Given the description of an element on the screen output the (x, y) to click on. 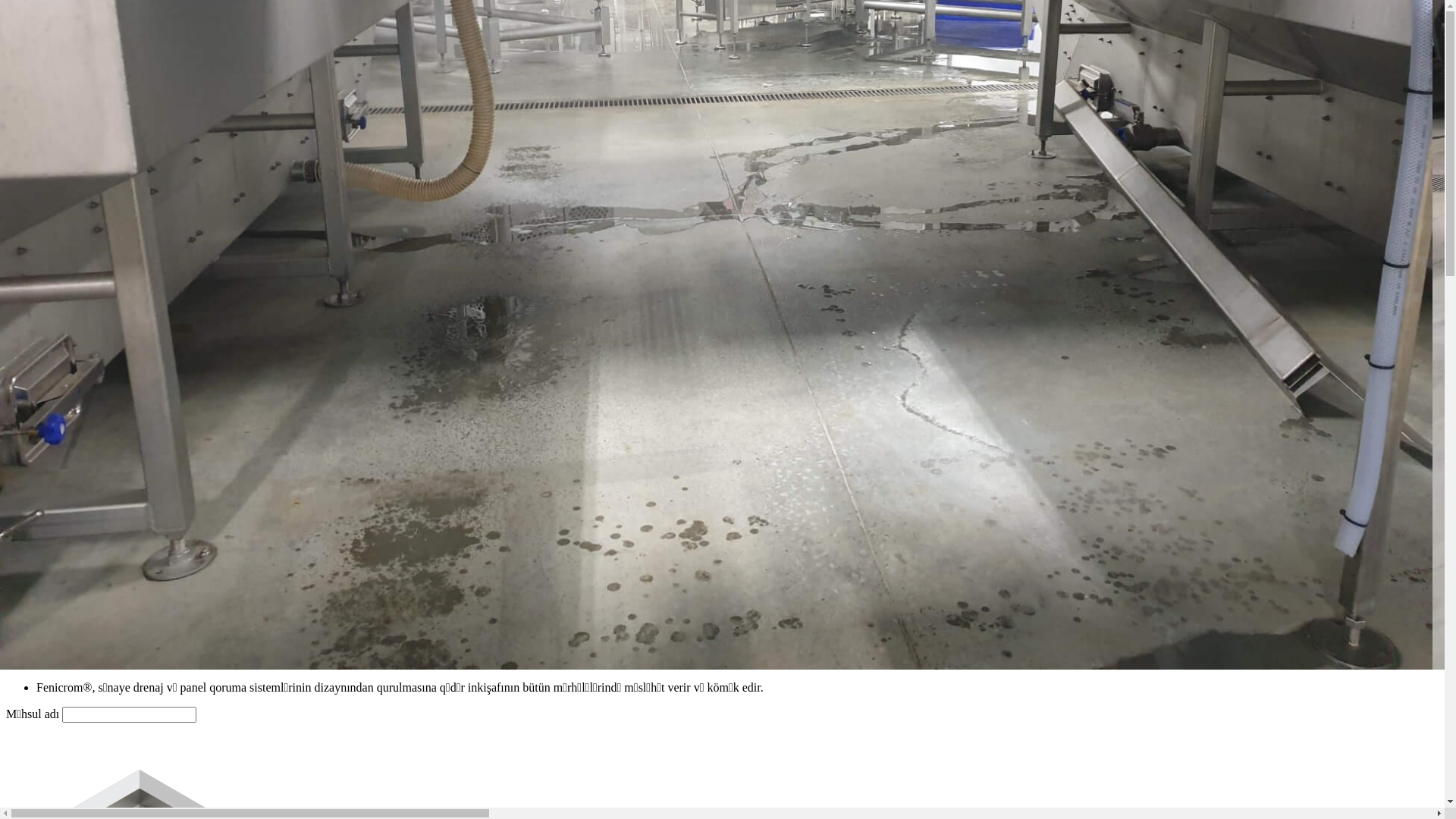
Menu Element type: text (20, 175)
Konsepsiya Element type: text (64, 122)
